Given the description of an element on the screen output the (x, y) to click on. 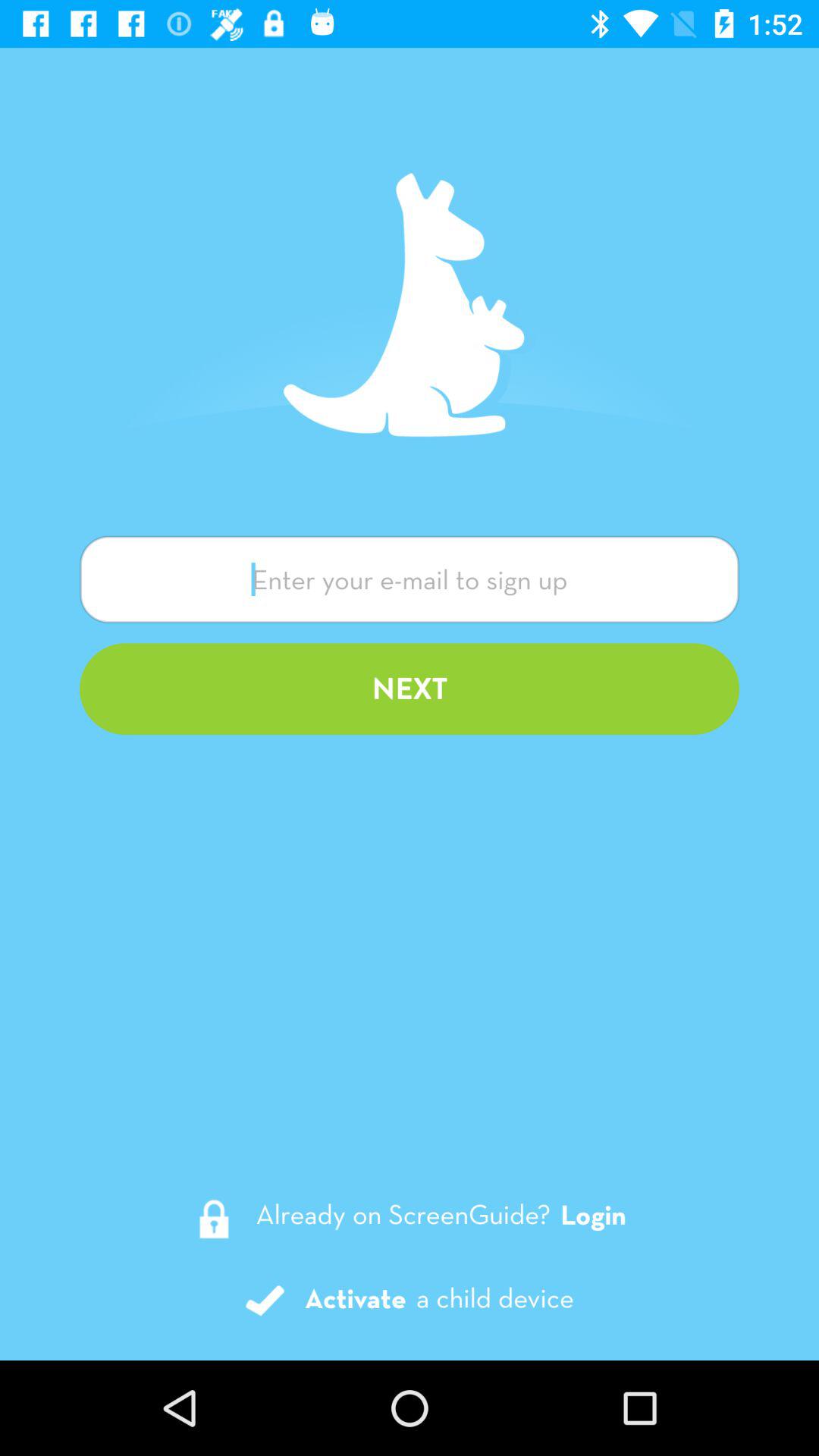
tap icon above the next item (409, 579)
